Given the description of an element on the screen output the (x, y) to click on. 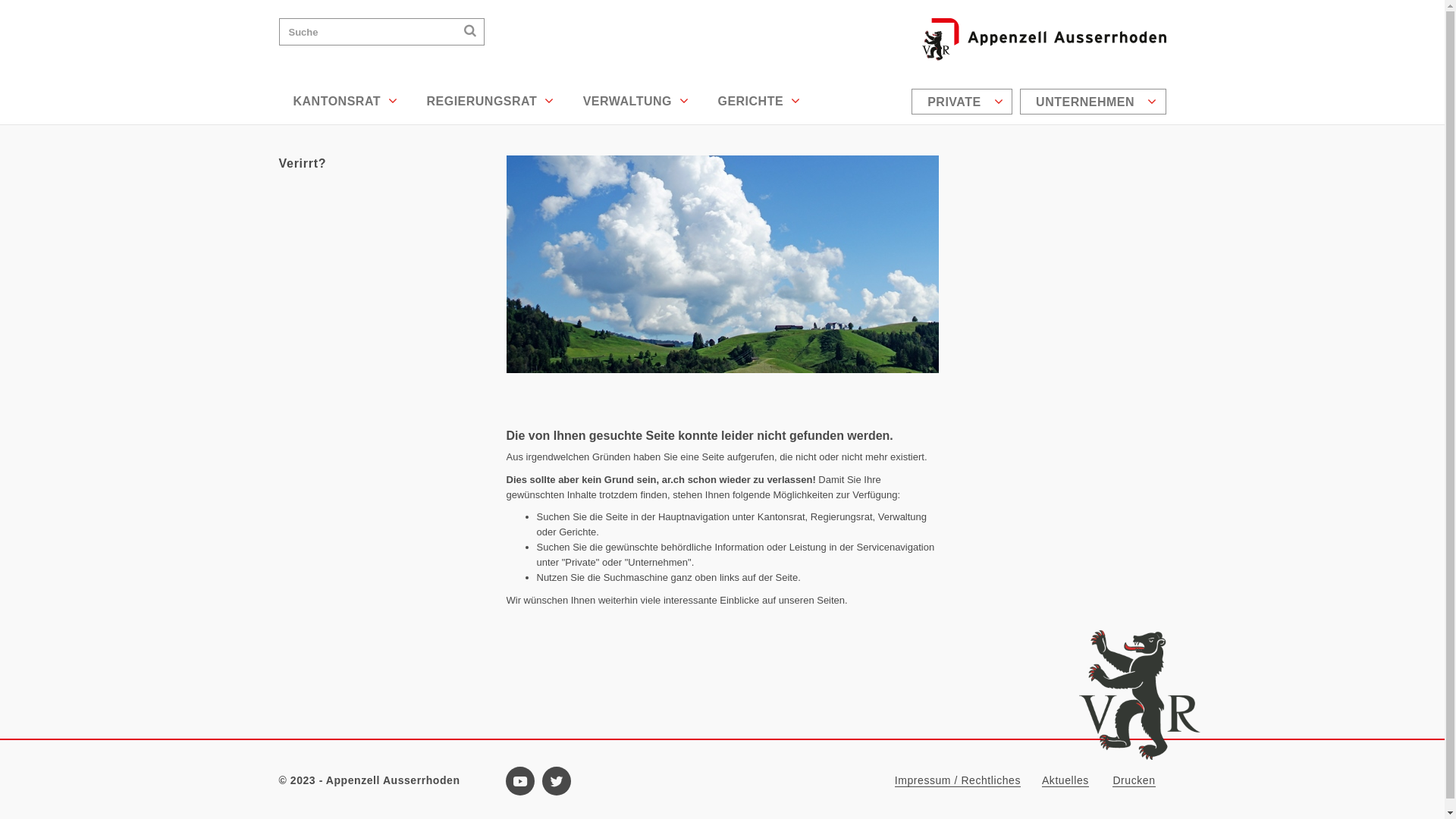
VERWALTUNG Element type: text (635, 101)
PRIVATE Element type: text (961, 101)
REGIERUNGSRAT Element type: text (489, 101)
GERICHTE Element type: text (758, 101)
Aktuelles Element type: text (1064, 780)
UNTERNEHMEN Element type: text (1092, 101)
Verirrt? Element type: text (381, 163)
KANTONSRAT Element type: text (345, 101)
Drucken Element type: text (1133, 780)
Impressum / Rechtliches Element type: text (957, 780)
Suchen Element type: text (469, 29)
